Given the description of an element on the screen output the (x, y) to click on. 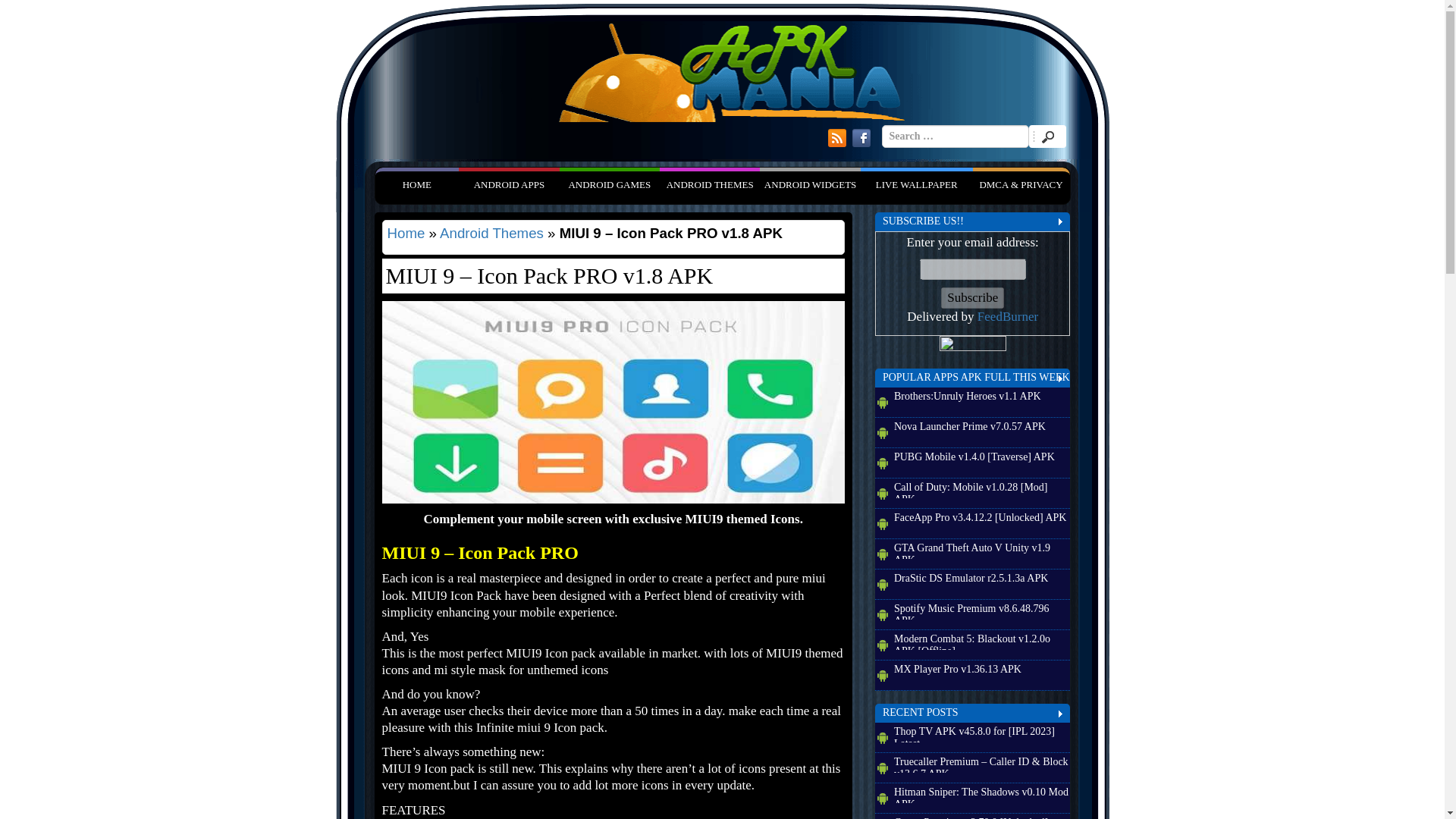
LIVE WALLPAPER (916, 183)
Android Apps (508, 183)
ANDROID GAMES (609, 183)
ANDROID THEMES (709, 183)
Brothers:Unruly Heroes v1.1 APK (981, 398)
GTA Grand Theft Auto V Unity v1.9 APK (981, 550)
Search for: (953, 136)
Android Themes (491, 232)
DraStic DS Emulator r2.5.1.3a APK (981, 580)
Home (406, 232)
Home (416, 183)
Android games (609, 183)
Subscribe (972, 297)
Follow me on Facebook (860, 137)
HOME (416, 183)
